Given the description of an element on the screen output the (x, y) to click on. 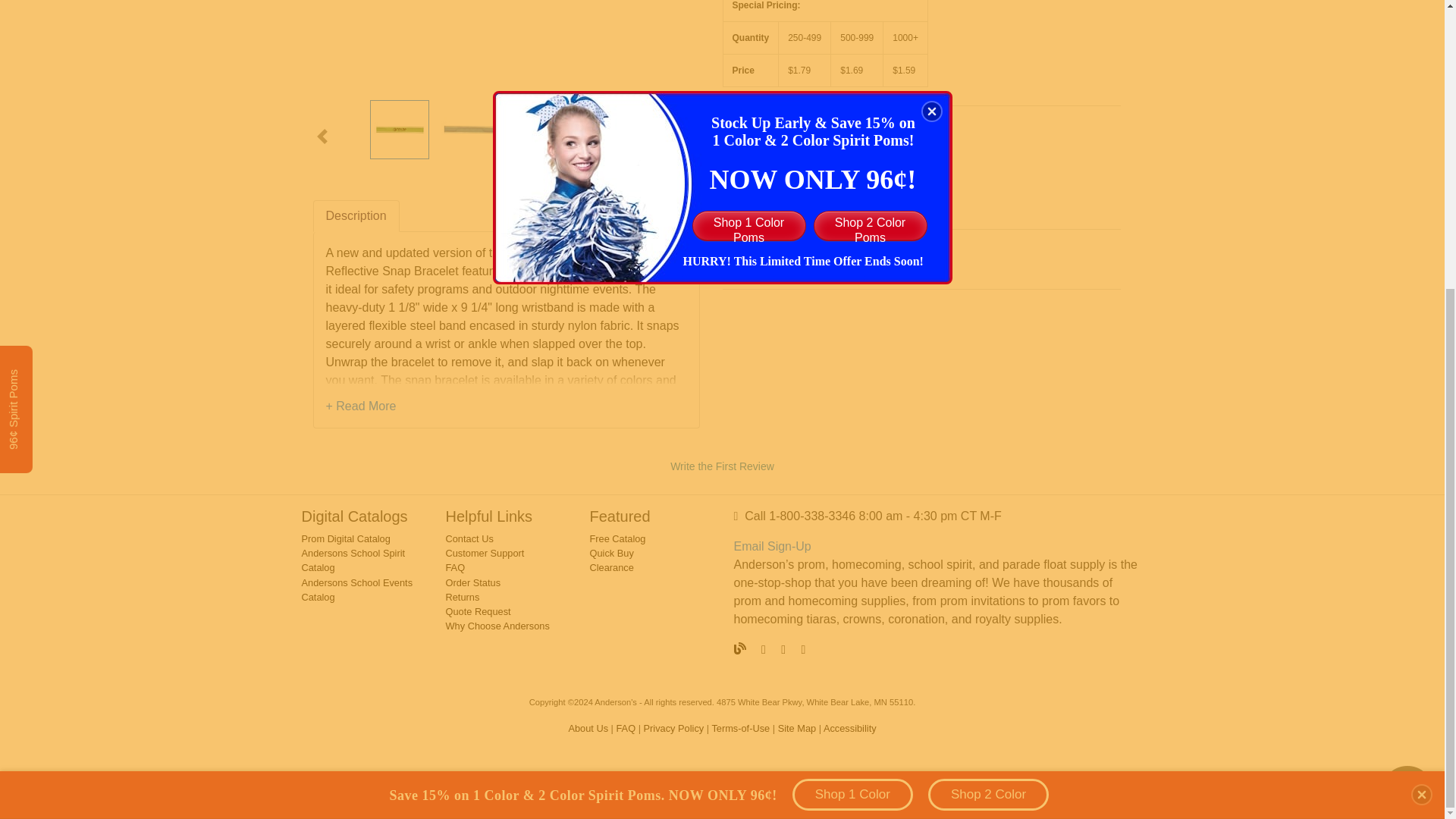
Nylon Reflective Custom Snap Bracelet (399, 128)
Close (1421, 357)
Nylon Reflective Custom Snap Bracelet (470, 128)
Nylon Reflective Custom Snap Bracelet (505, 43)
Nylon Reflective Custom Snap Bracelet (612, 128)
Nylon Reflective Custom Snap Bracelet (541, 128)
